Given the description of an element on the screen output the (x, y) to click on. 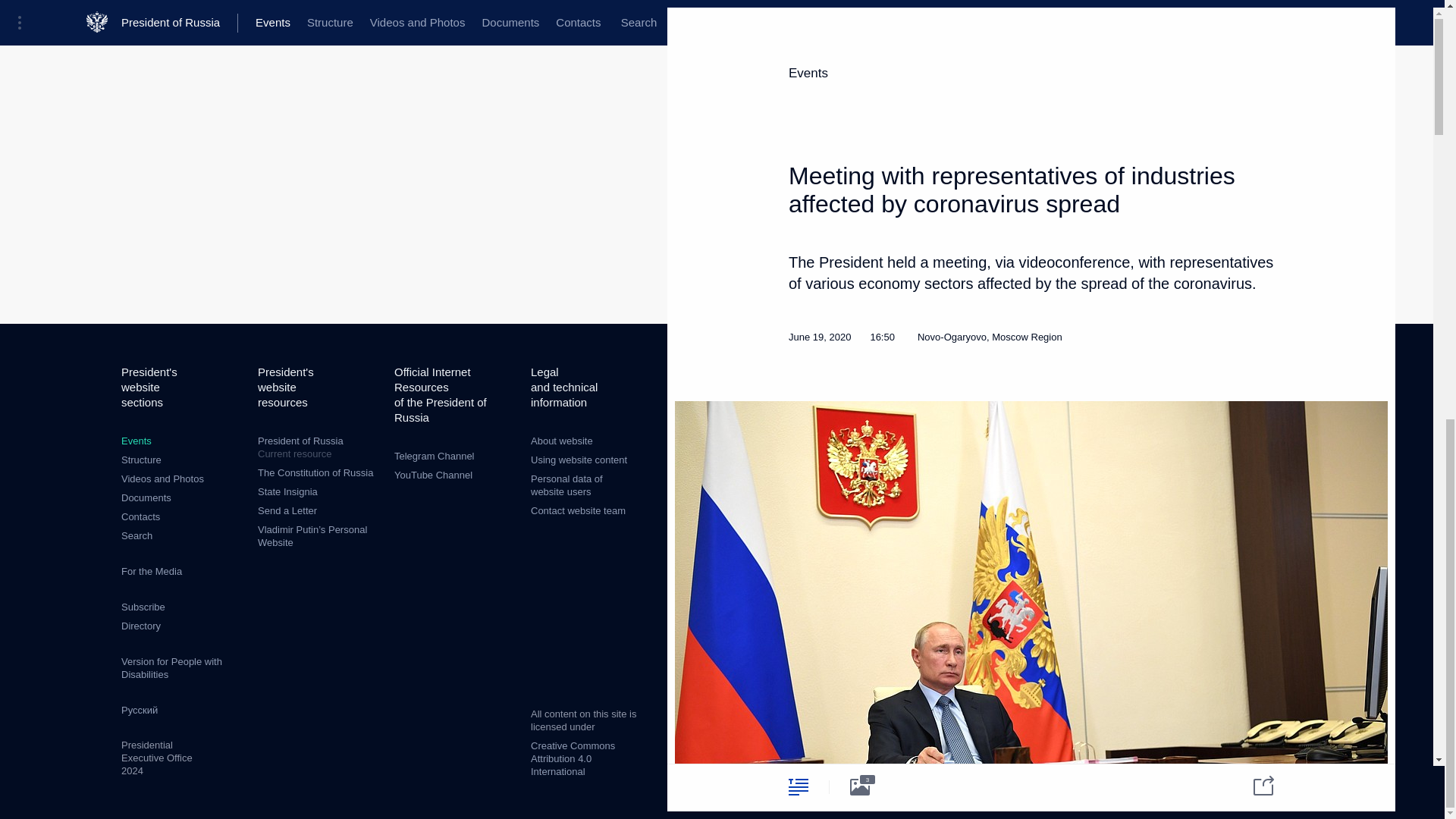
Telegram Channel (434, 455)
Andrei Belousov (1031, 79)
Contacts (140, 516)
Creative Commons Attribution 4.0 International (572, 758)
State Insignia (287, 491)
Send a Letter (287, 510)
Subscribe (142, 606)
The Constitution of Russia (314, 472)
Contact website team (578, 510)
YouTube Channel (432, 474)
